Given the description of an element on the screen output the (x, y) to click on. 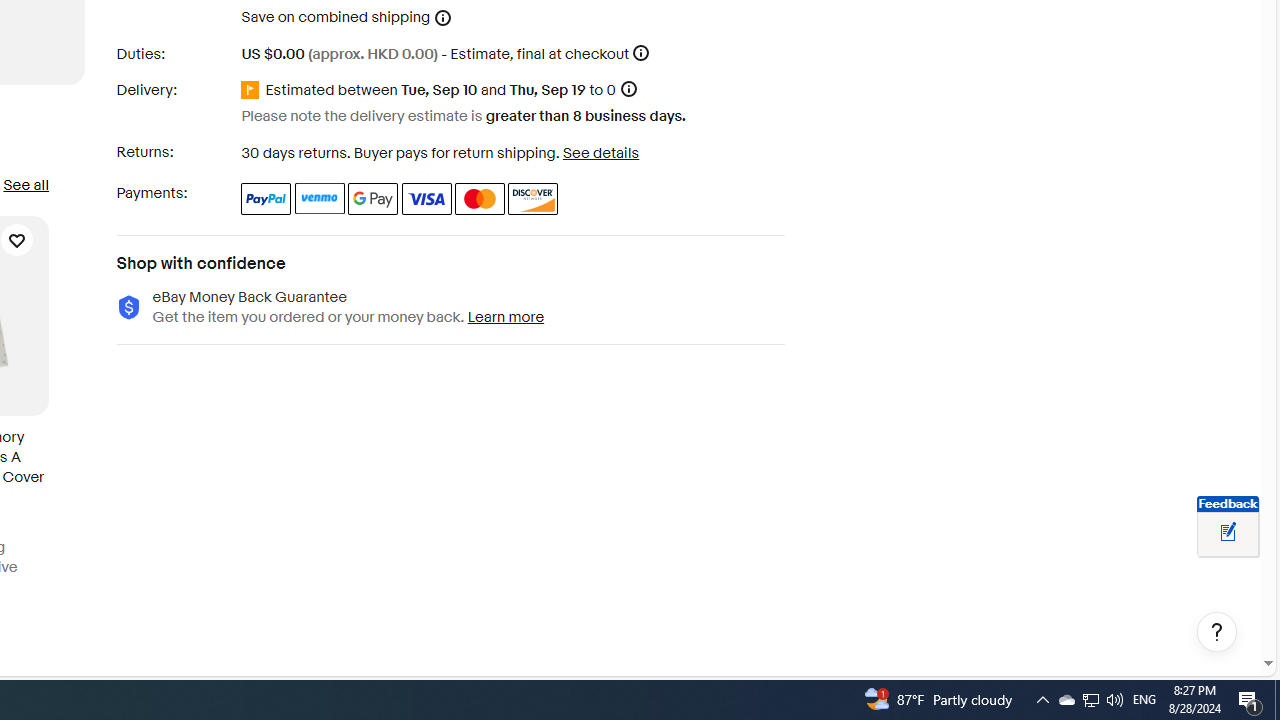
Visa (425, 198)
See details - for more information about returns (600, 152)
Information - Estimated delivery date - opens a layer (628, 89)
Discover (533, 198)
Help, opens dialogs (1217, 632)
More information on Combined Shipping. Opens a layer. (443, 17)
Google Pay (373, 198)
PayPal (265, 198)
More information (641, 52)
Master Card (479, 198)
See all (25, 184)
Leave feedback about your eBay ViewItem experience (1227, 533)
